Given the description of an element on the screen output the (x, y) to click on. 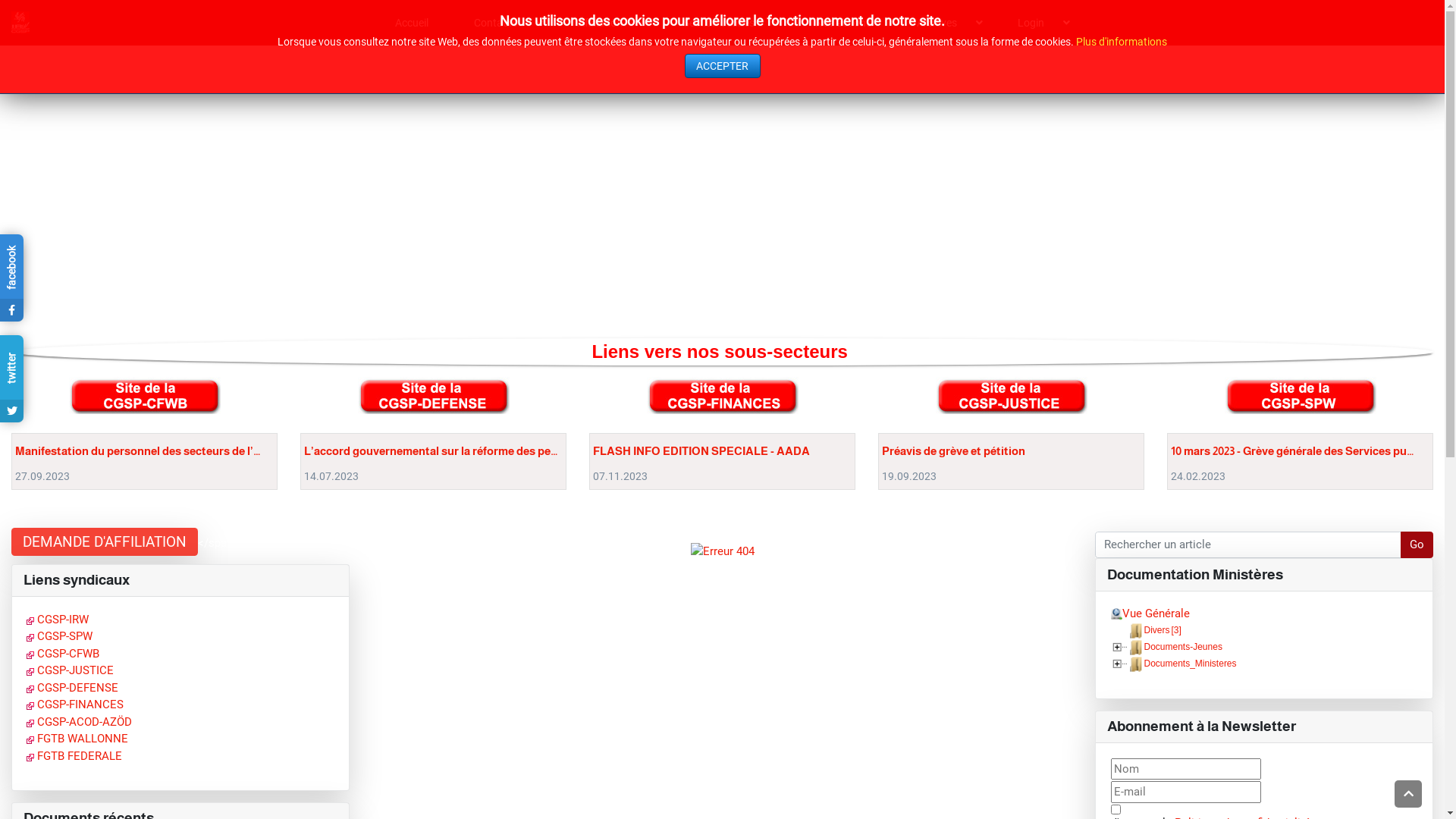
Plus d'informations Element type: text (1121, 41)
DEMANDE D'AFFILIATION Element type: text (104, 541)
Termes et conditions Element type: hover (1115, 809)
 FGTB WALLONNE Element type: text (77, 738)
Section Jeunes Element type: text (726, 22)
Accueil Element type: text (411, 22)
 CGSP-IRW Element type: text (57, 619)
 CGSP-DEFENSE Element type: text (72, 687)
FLASH INFO EDITION SPECIALE - AADA Element type: text (701, 451)
Login Element type: text (1038, 22)
Go Element type: text (1416, 544)
 FGTB FEDERALE Element type: text (74, 755)
 CGSP-CFWB Element type: text (62, 653)
Documents-Jeunes Element type: text (1182, 646)
Nos actions Element type: text (843, 22)
 CGSP-SPW Element type: text (59, 636)
Affiliation Element type: text (607, 22)
Contacts Element type: text (503, 22)
 CGSP-JUSTICE Element type: text (69, 670)
Documents_Ministeres Element type: text (1189, 663)
 CGSP-FINANCES Element type: text (74, 704)
Archives Element type: text (944, 22)
Divers[3] Element type: text (1163, 629)
